Given the description of an element on the screen output the (x, y) to click on. 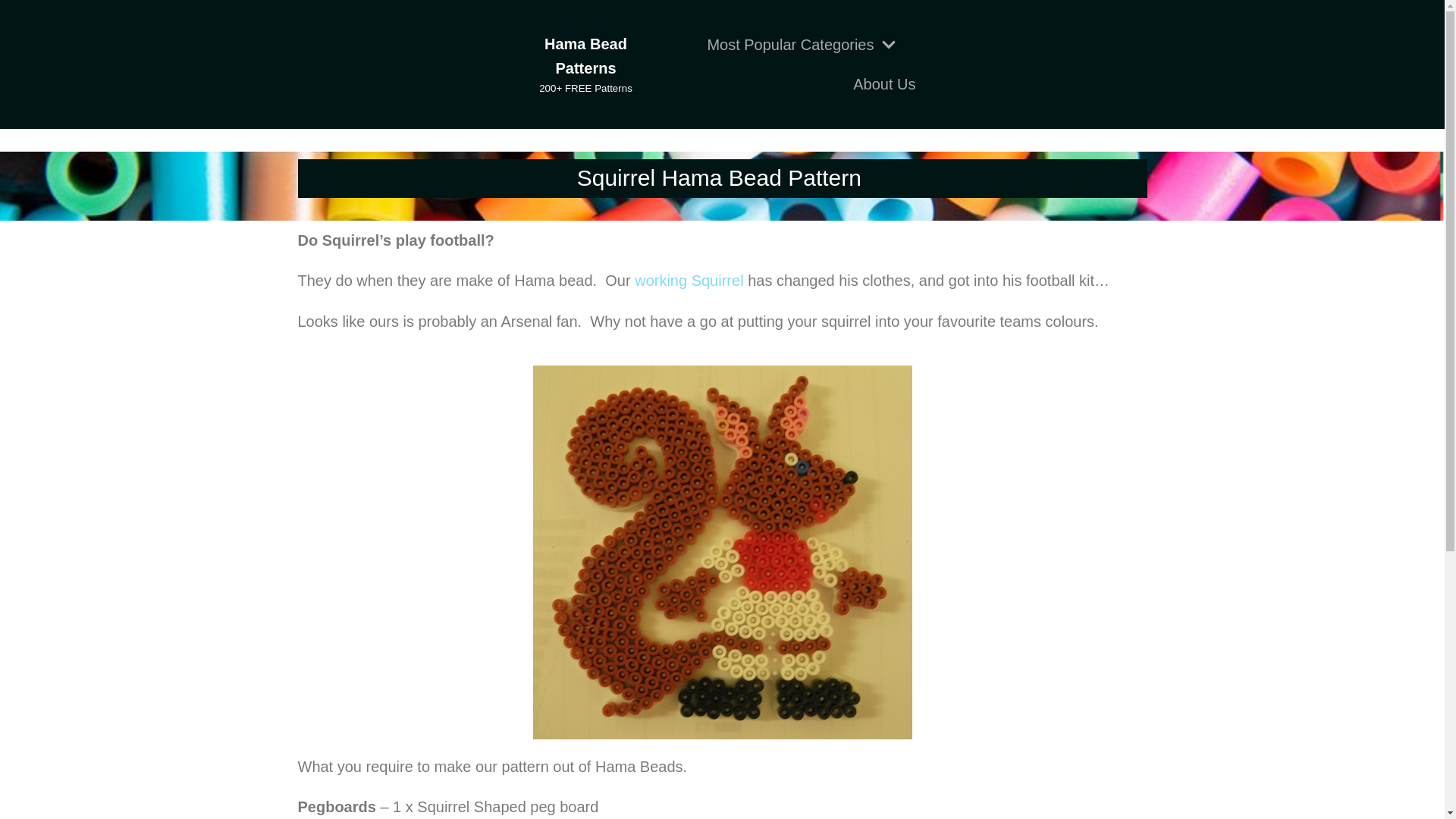
About Us (884, 84)
Skip to content (15, 31)
Hama Bead Patterns (586, 64)
Hama Bead Squirrel (688, 280)
working Squirrel (688, 280)
Most Popular Categories (802, 44)
